Given the description of an element on the screen output the (x, y) to click on. 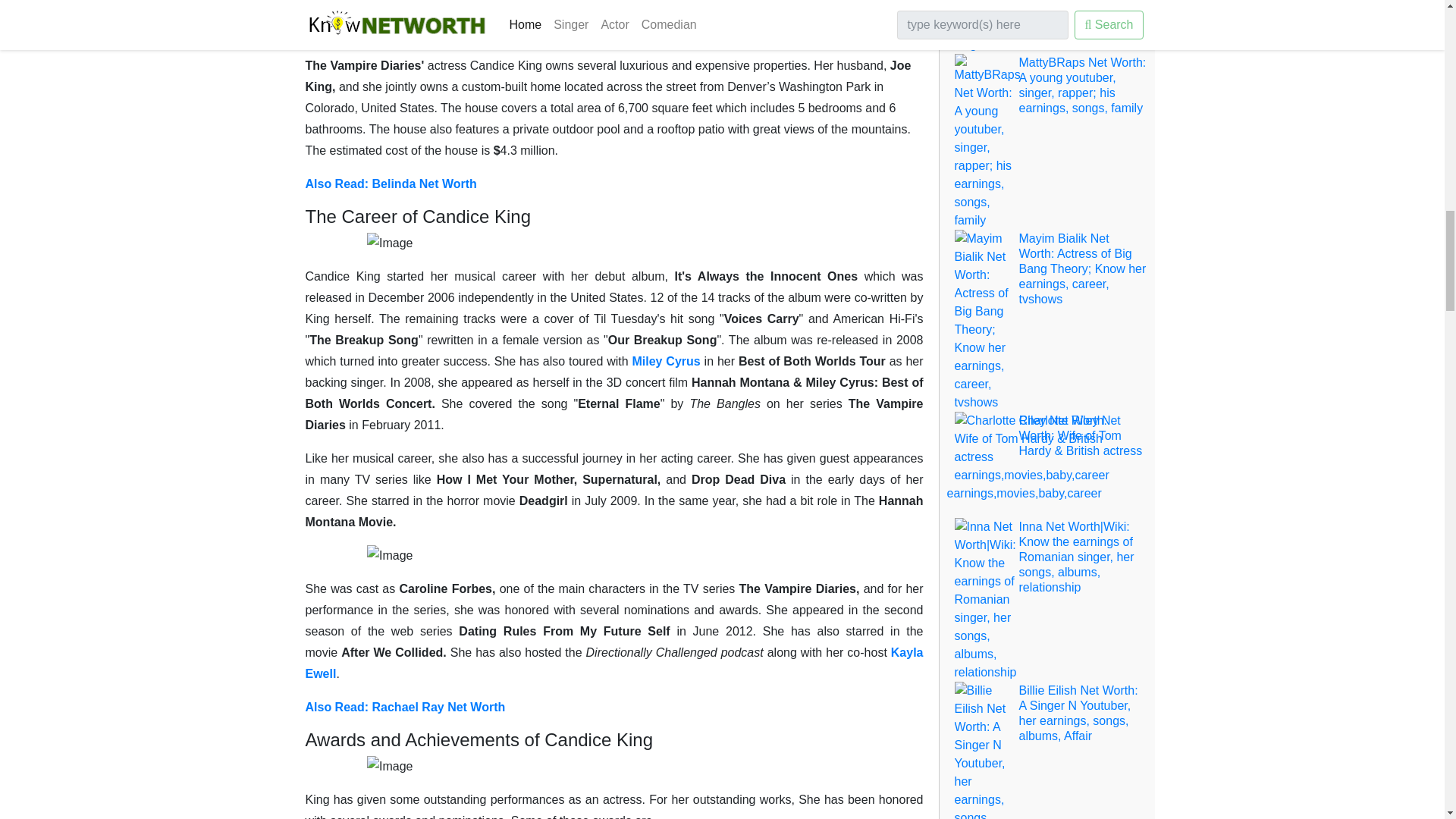
Miley Cyrus (667, 360)
Miley Cyrus (667, 360)
Kayla Ewell (613, 663)
Also Read: Belinda Net Worth (390, 183)
Also Read: Rachael Ray Net Worth (404, 707)
